Given the description of an element on the screen output the (x, y) to click on. 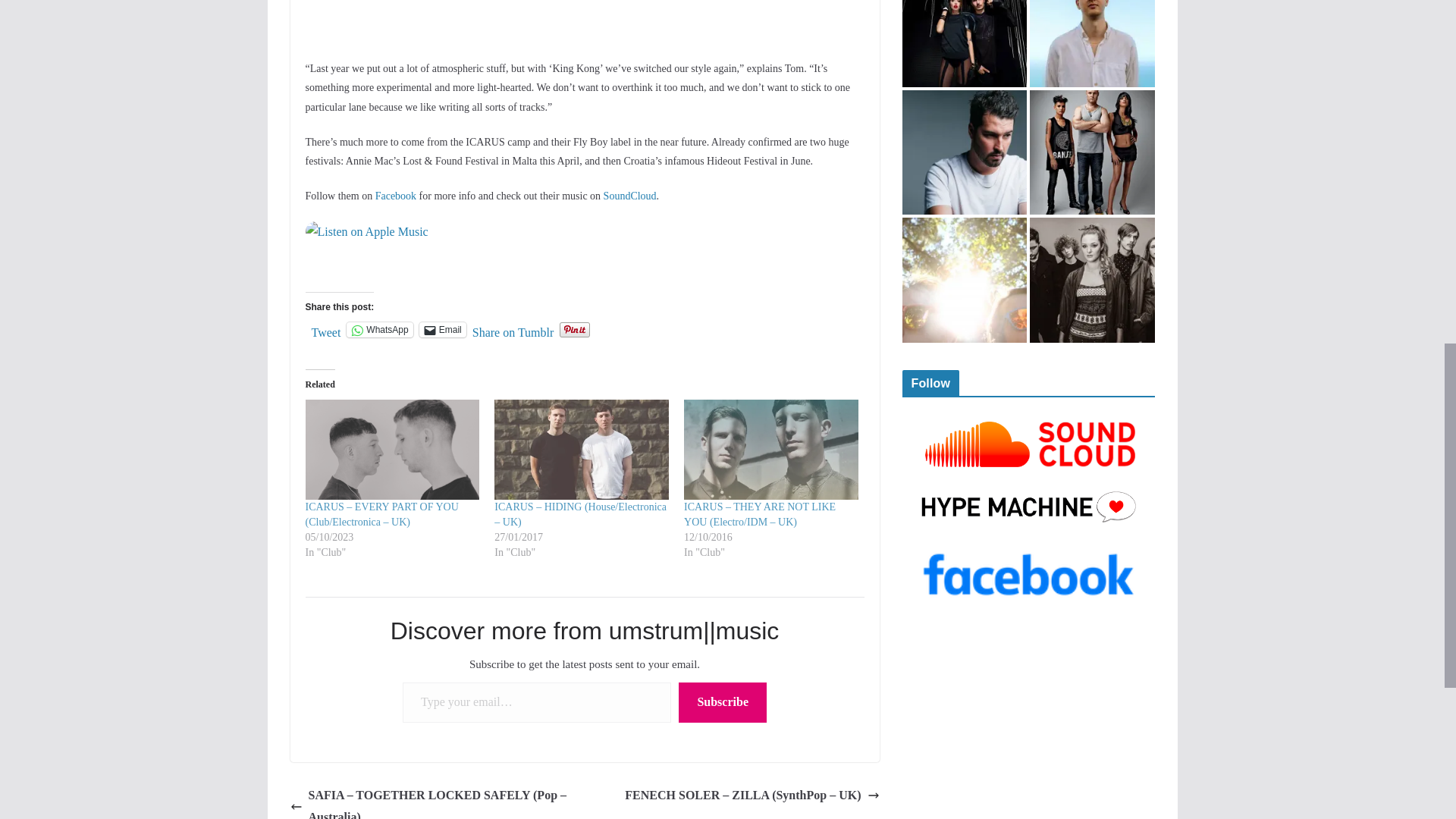
Click to email a link to a friend (442, 329)
Tweet (325, 328)
Click to share on WhatsApp (379, 329)
WhatsApp (379, 329)
Share on Tumblr (512, 328)
Facebook (395, 195)
SoundCloud (630, 195)
Please fill in this field. (537, 702)
Email (442, 329)
Share on Tumblr (512, 328)
